Given the description of an element on the screen output the (x, y) to click on. 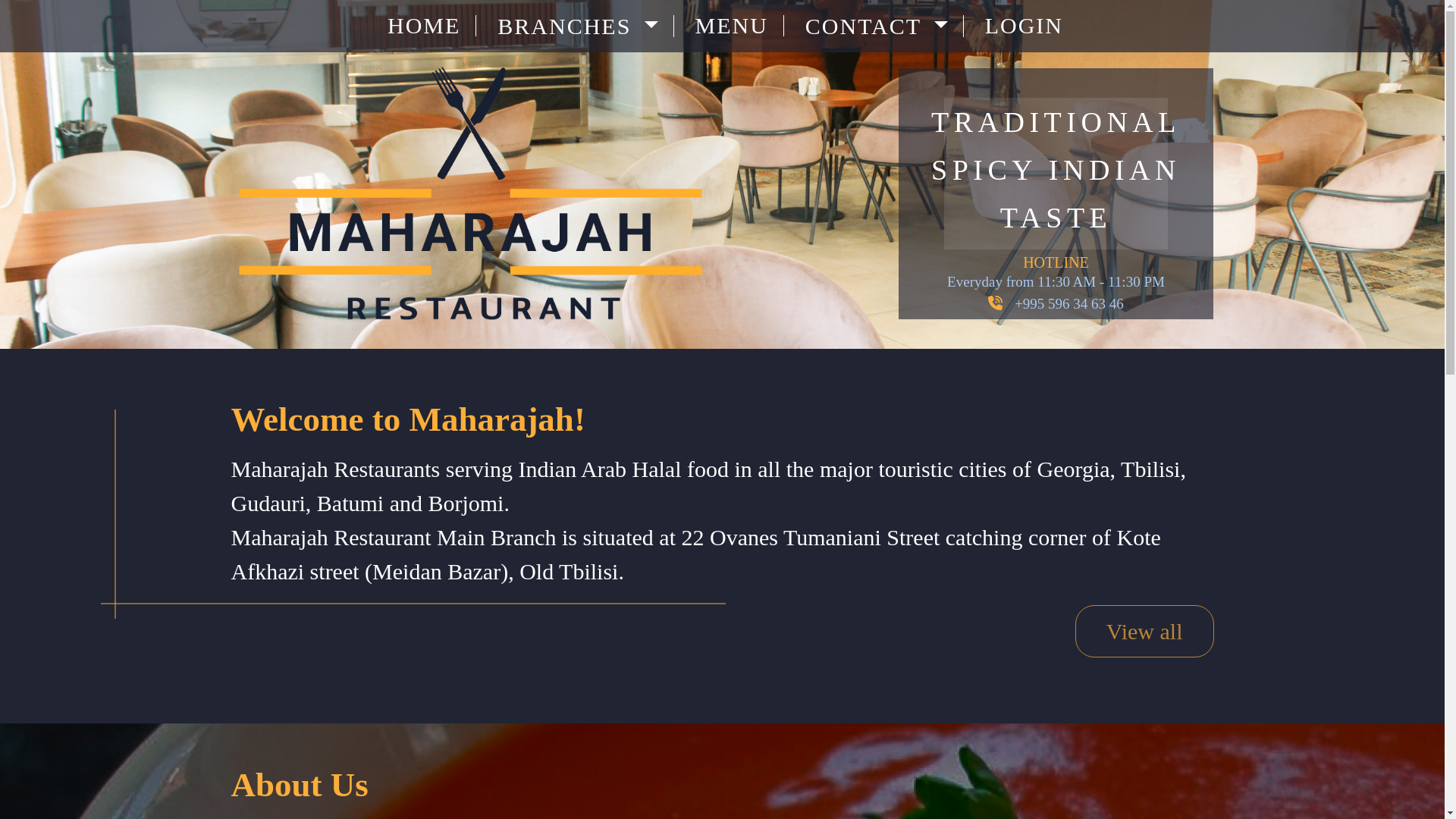
LOGIN (1020, 25)
MENU (735, 25)
CONTACT (881, 25)
HOME (428, 25)
View all (1144, 631)
BRANCHES (582, 25)
